Given the description of an element on the screen output the (x, y) to click on. 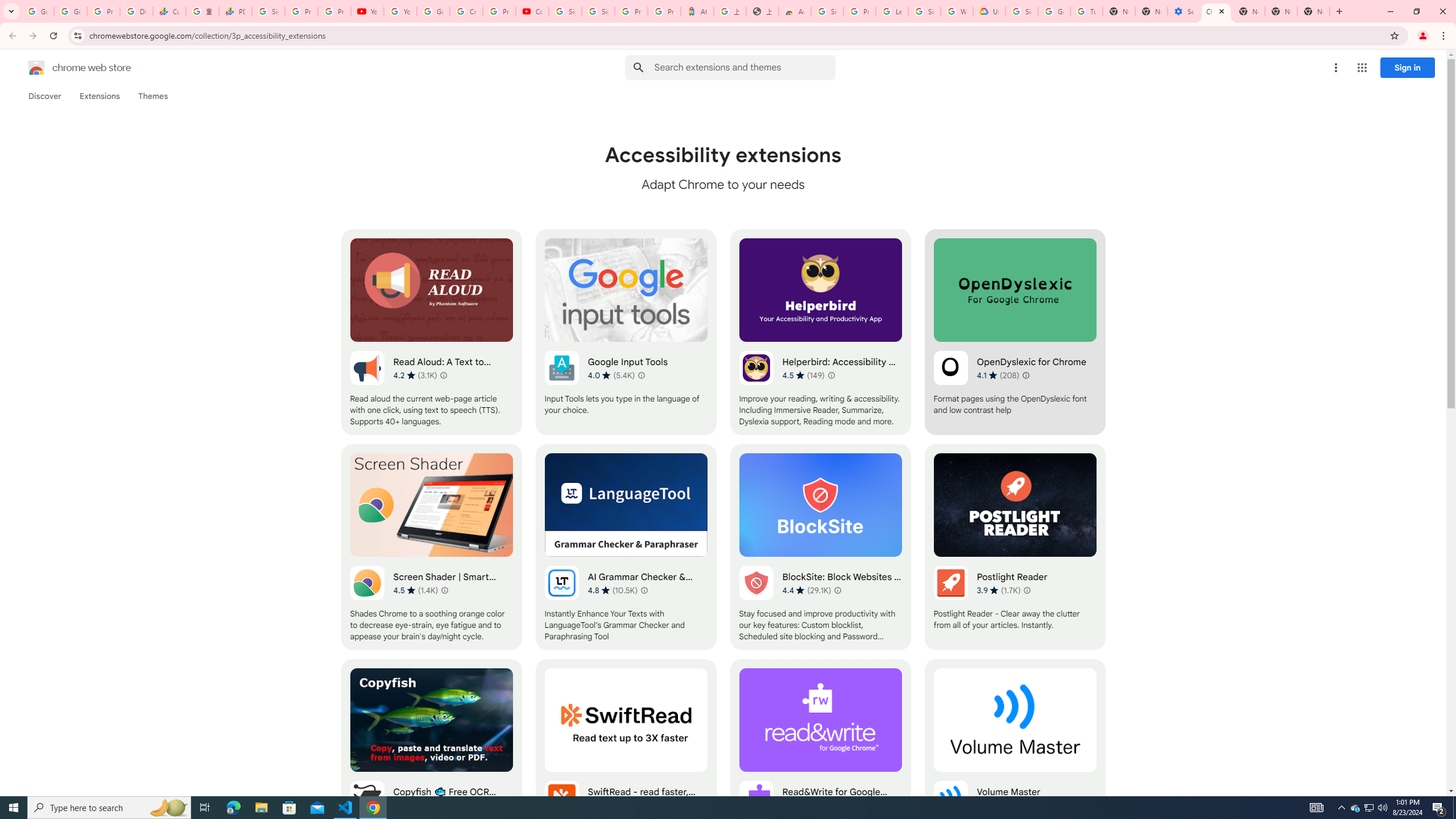
Screen Shader | Smart Screen Tinting (431, 546)
Search input (744, 67)
Sign in - Google Accounts (827, 11)
Read Aloud: A Text to Speech Voice Reader (431, 331)
YouTube (400, 11)
Google Workspace Admin Community (37, 11)
Sign in - Google Accounts (924, 11)
Average rating 4.5 out of 5 stars. 149 ratings. (803, 375)
Google Account Help (433, 11)
